Given the description of an element on the screen output the (x, y) to click on. 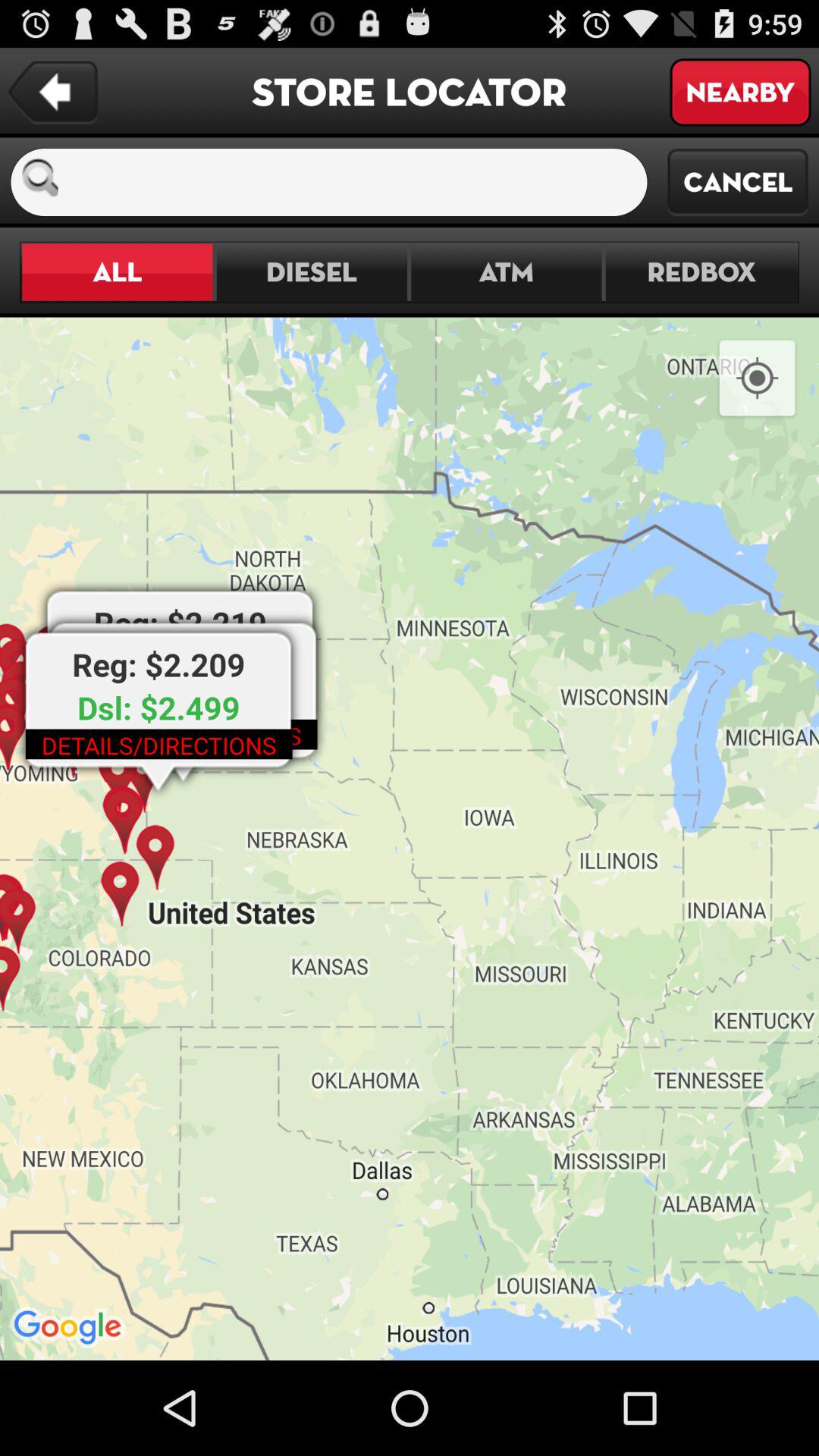
go back (52, 92)
